Given the description of an element on the screen output the (x, y) to click on. 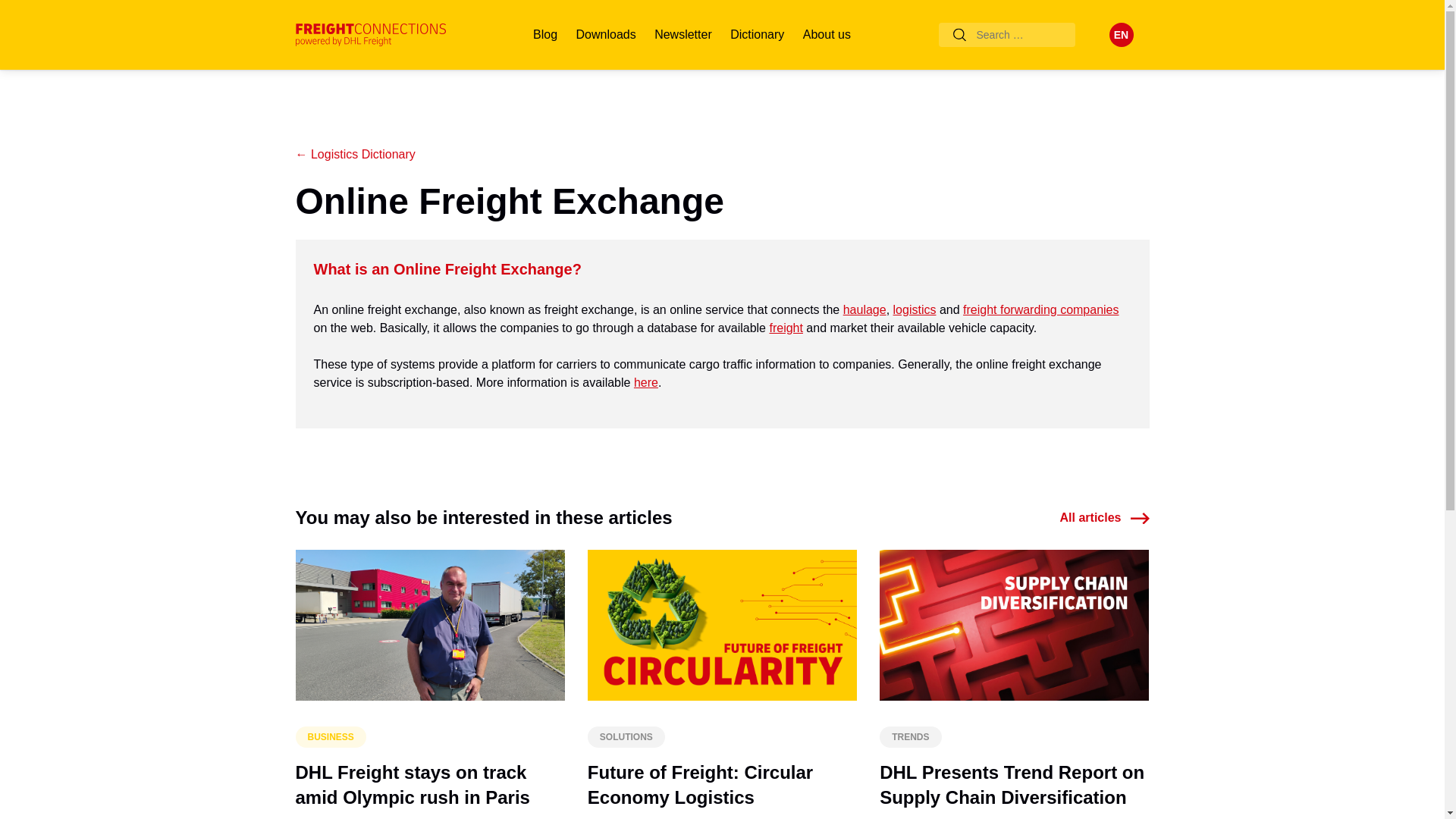
All articles (1104, 517)
Newsletter (682, 34)
haulage (864, 309)
About us (826, 34)
Dictionary (757, 34)
Blog (544, 34)
DHL Freight stays on track amid Olympic rush in Paris (412, 785)
freight (785, 327)
Downloads (606, 34)
EN (1120, 34)
DHL Presents Trend Report on Supply Chain Diversification (1011, 785)
here (645, 382)
logistics (914, 309)
EN (1120, 34)
Future of Freight: Circular Economy Logistics (700, 785)
